Given the description of an element on the screen output the (x, y) to click on. 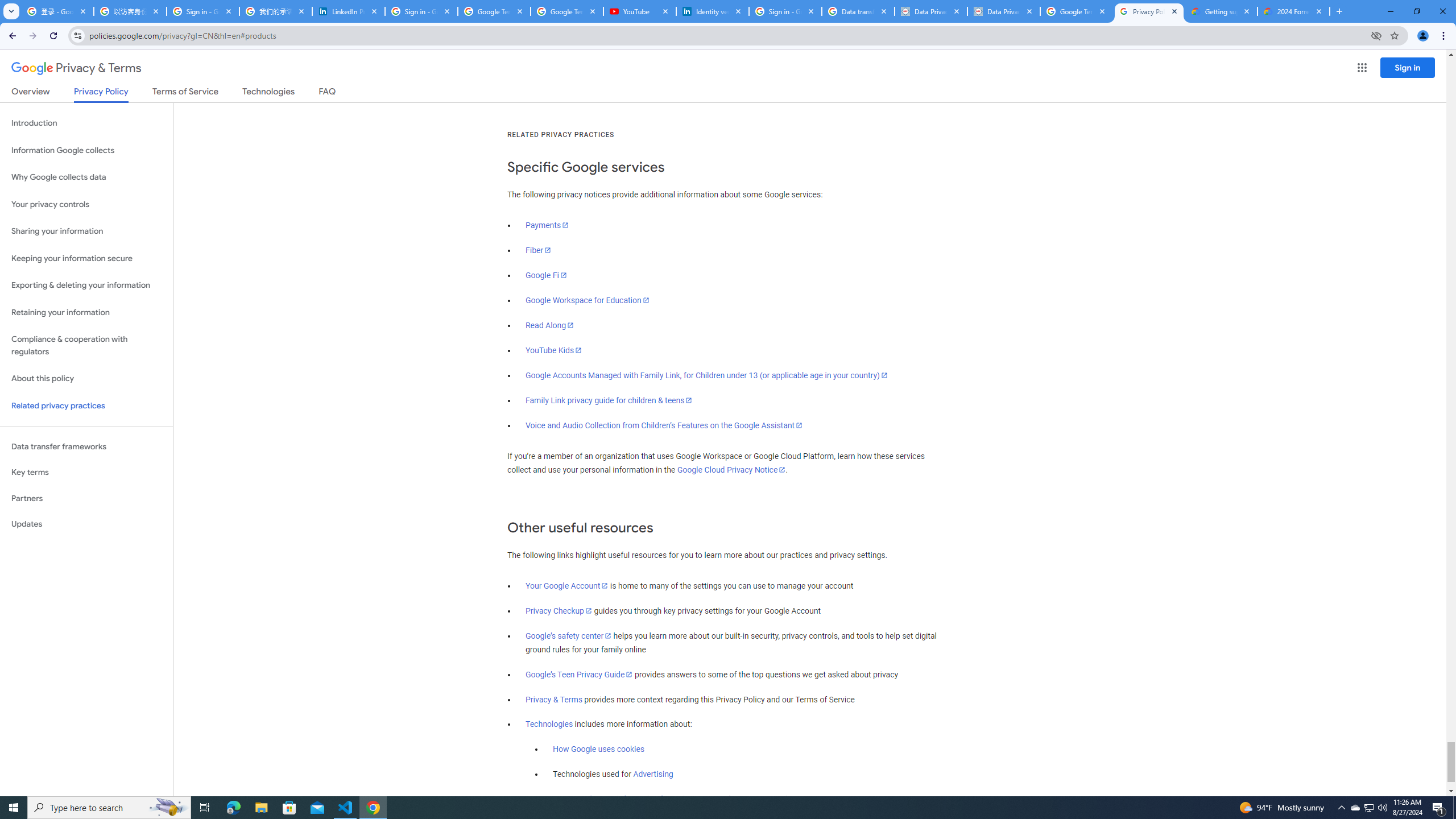
Privacy & Terms (553, 699)
Technologies (549, 724)
Key terms (86, 472)
Data Privacy Framework (930, 11)
Google apps (1362, 67)
How Google uses cookies (599, 749)
